Given the description of an element on the screen output the (x, y) to click on. 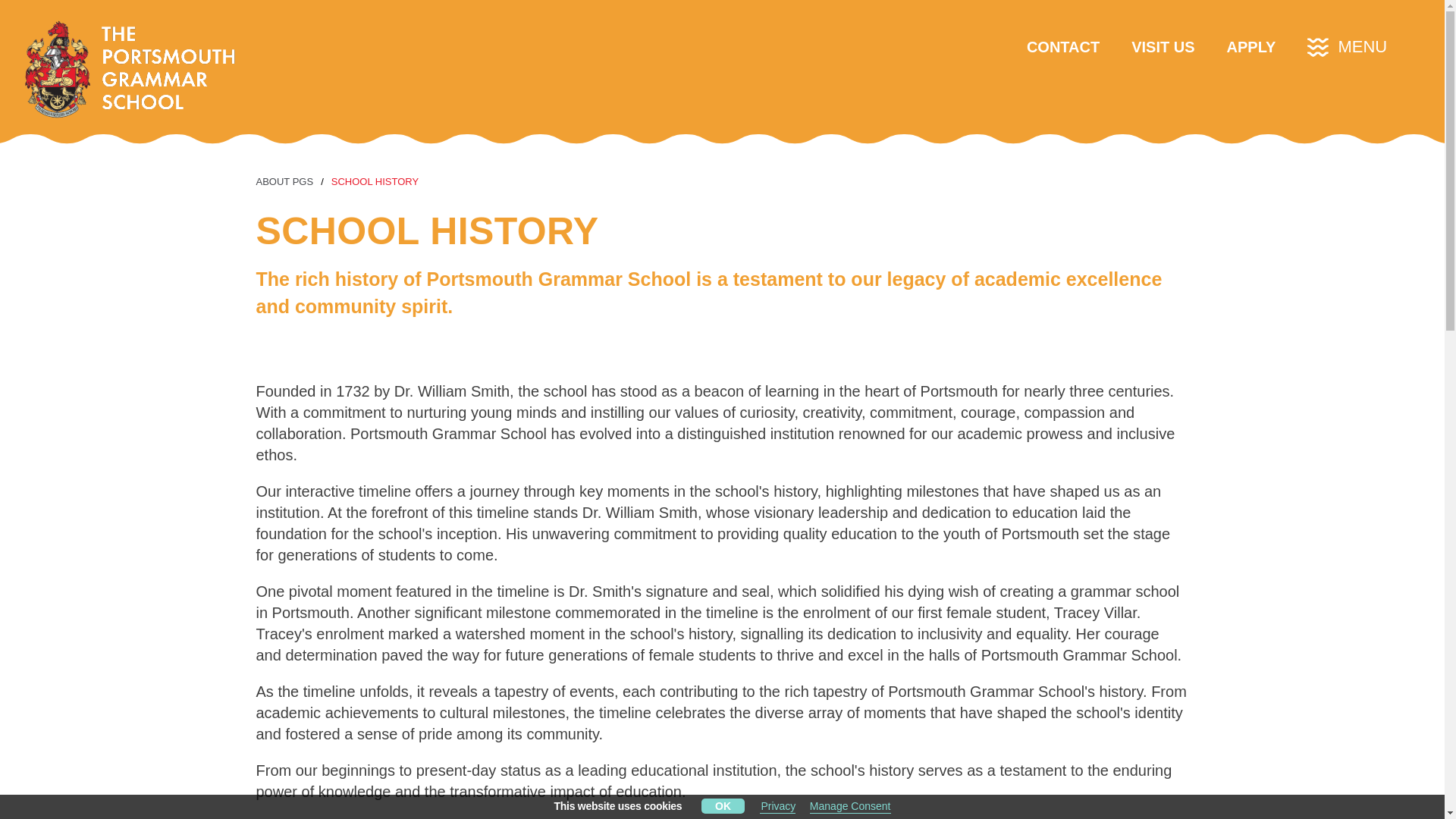
Contact (1062, 46)
APPLY (1251, 46)
Visit Us (1162, 46)
CONTACT (1062, 46)
Apply (1251, 46)
The Portsmouth Grammar School (139, 71)
VISIT US (1162, 46)
